Given the description of an element on the screen output the (x, y) to click on. 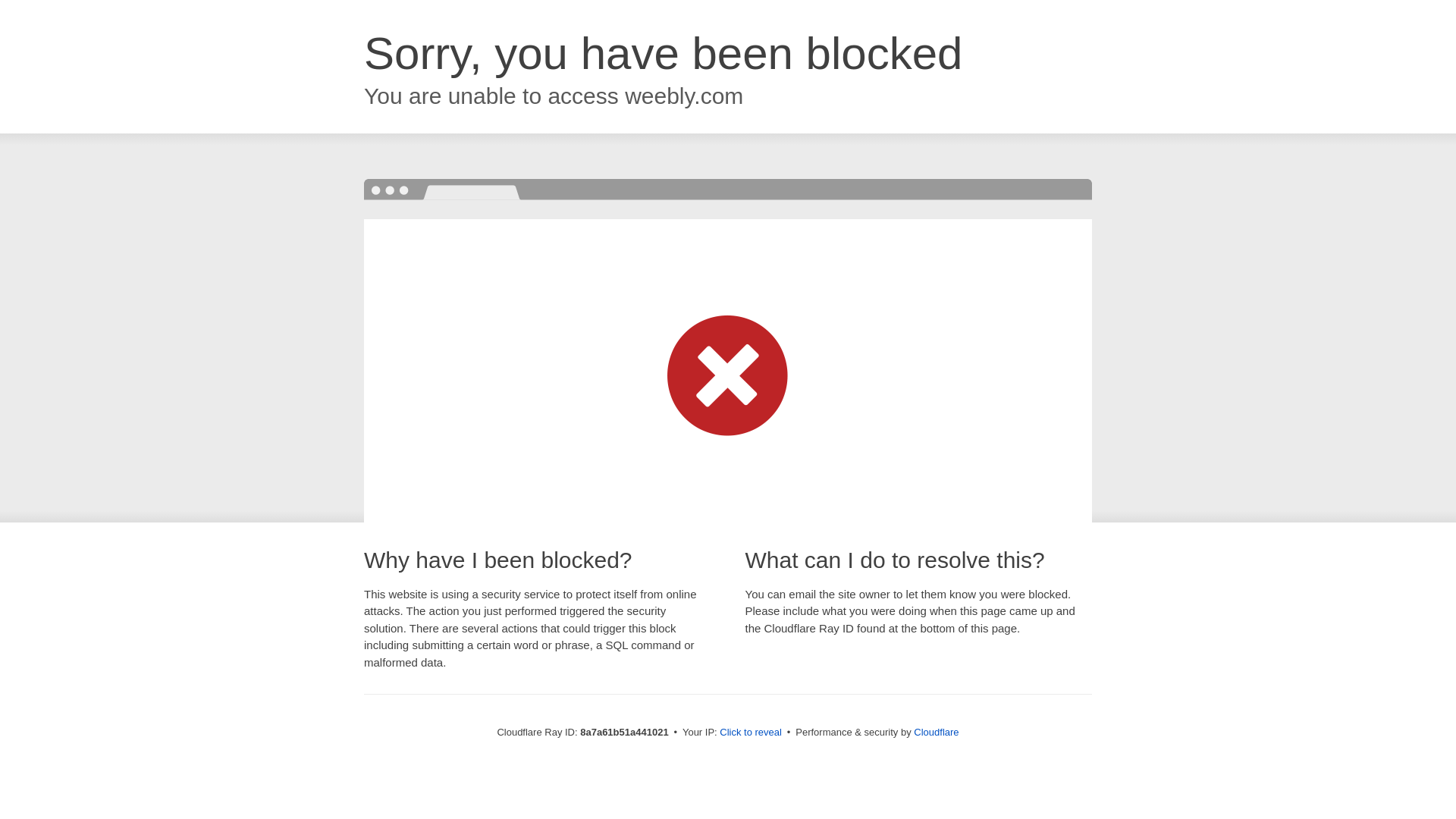
Click to reveal (750, 732)
Cloudflare (936, 731)
